Given the description of an element on the screen output the (x, y) to click on. 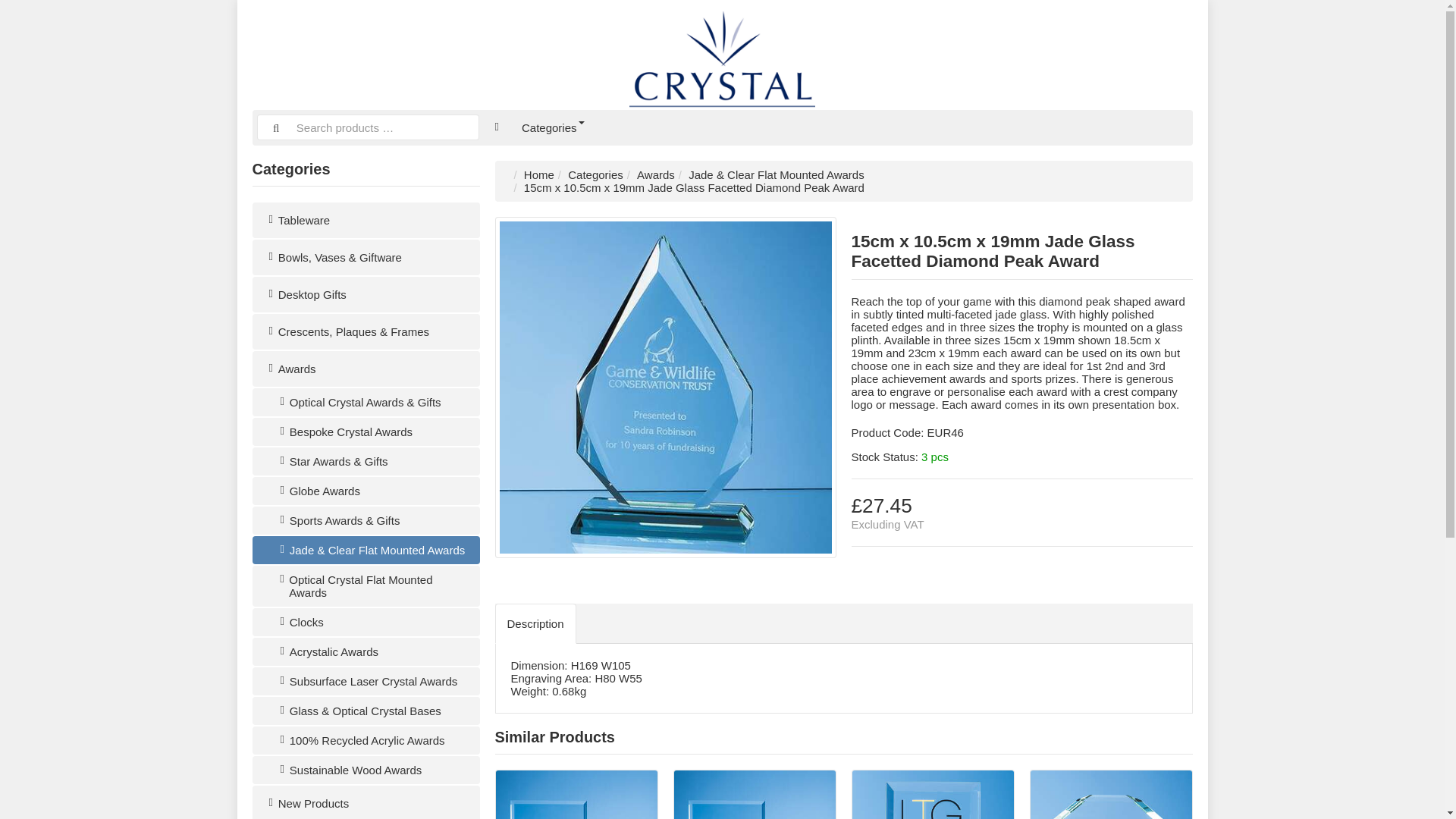
Acrystalic Awards (365, 651)
15cm x 10.5cm x 19mm Jade Glass Facetted Diamond Peak Award (665, 387)
Awards (656, 174)
Awards (365, 368)
Clocks (365, 622)
Logocrystal (721, 54)
Home (539, 174)
Desktop Gifts (365, 294)
New Products (365, 802)
Subsurface Laser Crystal Awards (365, 681)
Optical Crystal Flat Mounted Awards (365, 585)
Bespoke Crystal Awards (365, 431)
Sustainable Wood Awards (365, 769)
Tableware (365, 220)
